Given the description of an element on the screen output the (x, y) to click on. 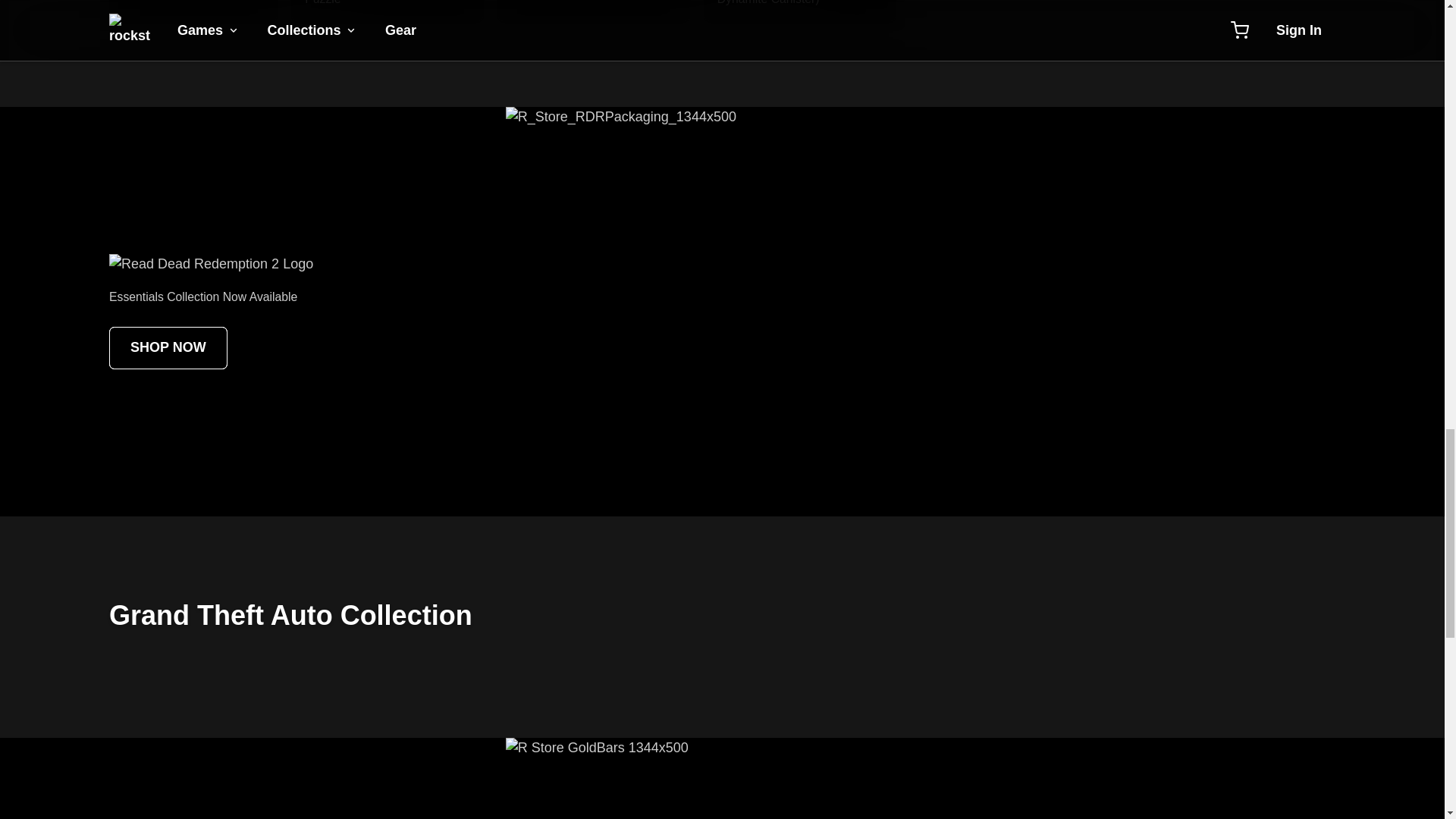
Red Dead Redemption 2 Metal Earth Train 3D Puzzle (181, 11)
Grand Theft Auto V Black Los Santos Tee (593, 11)
